Given the description of an element on the screen output the (x, y) to click on. 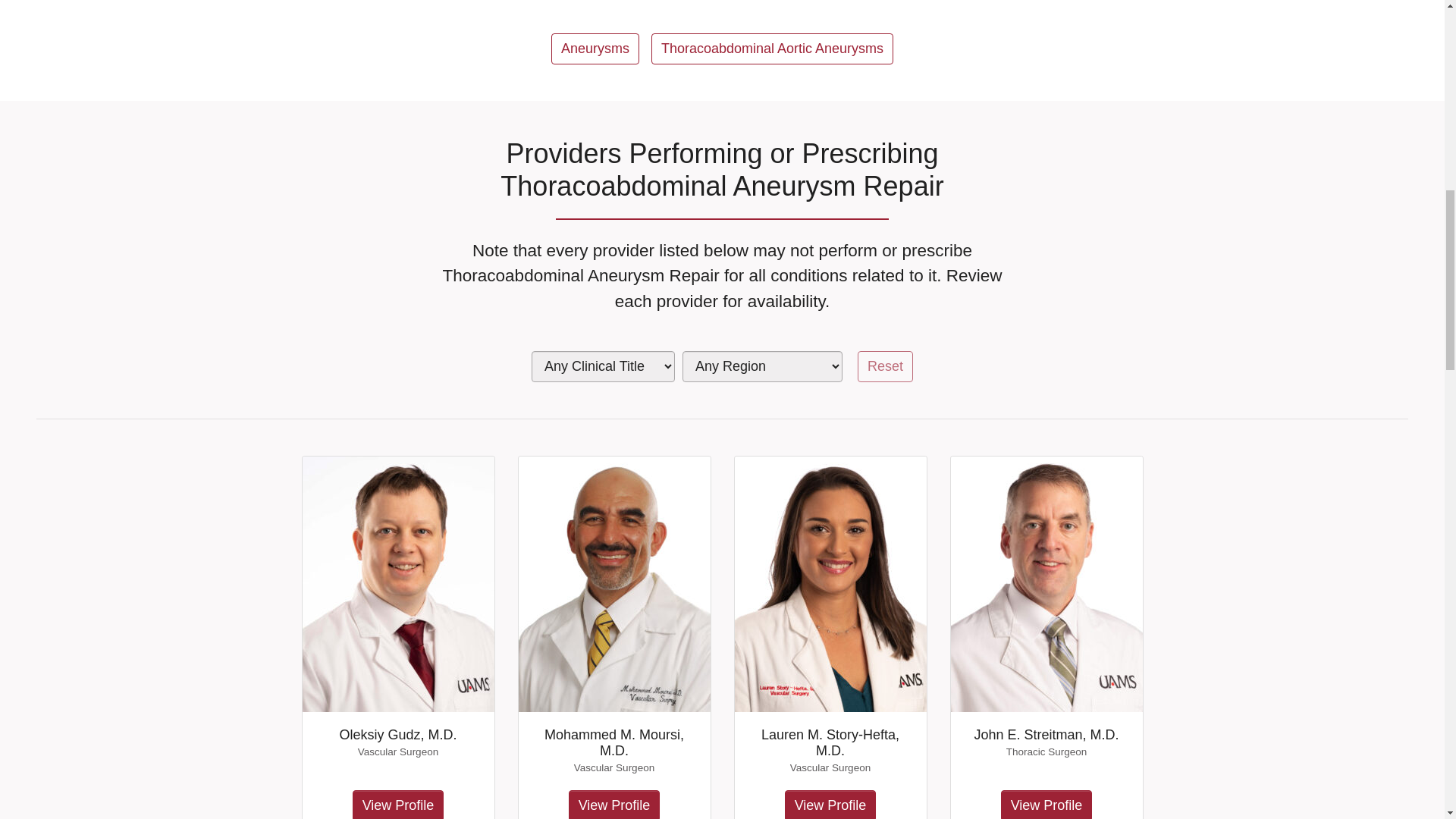
View Profile (398, 804)
Aneurysms (595, 48)
View Profile (615, 804)
View Profile (830, 804)
Thoracoabdominal Aortic Aneurysms (771, 48)
View Profile (1047, 804)
Reset (884, 366)
